Given the description of an element on the screen output the (x, y) to click on. 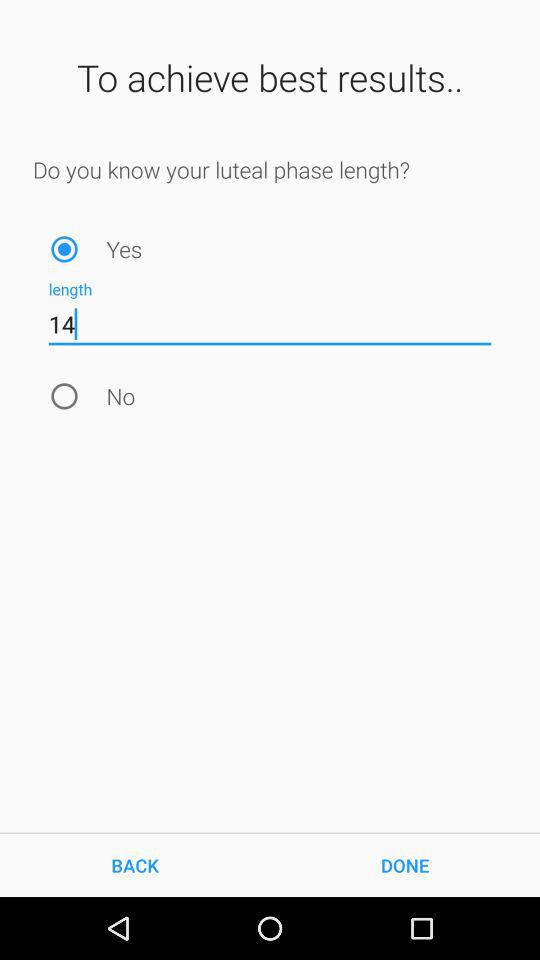
select the item to the right of back icon (405, 864)
